Given the description of an element on the screen output the (x, y) to click on. 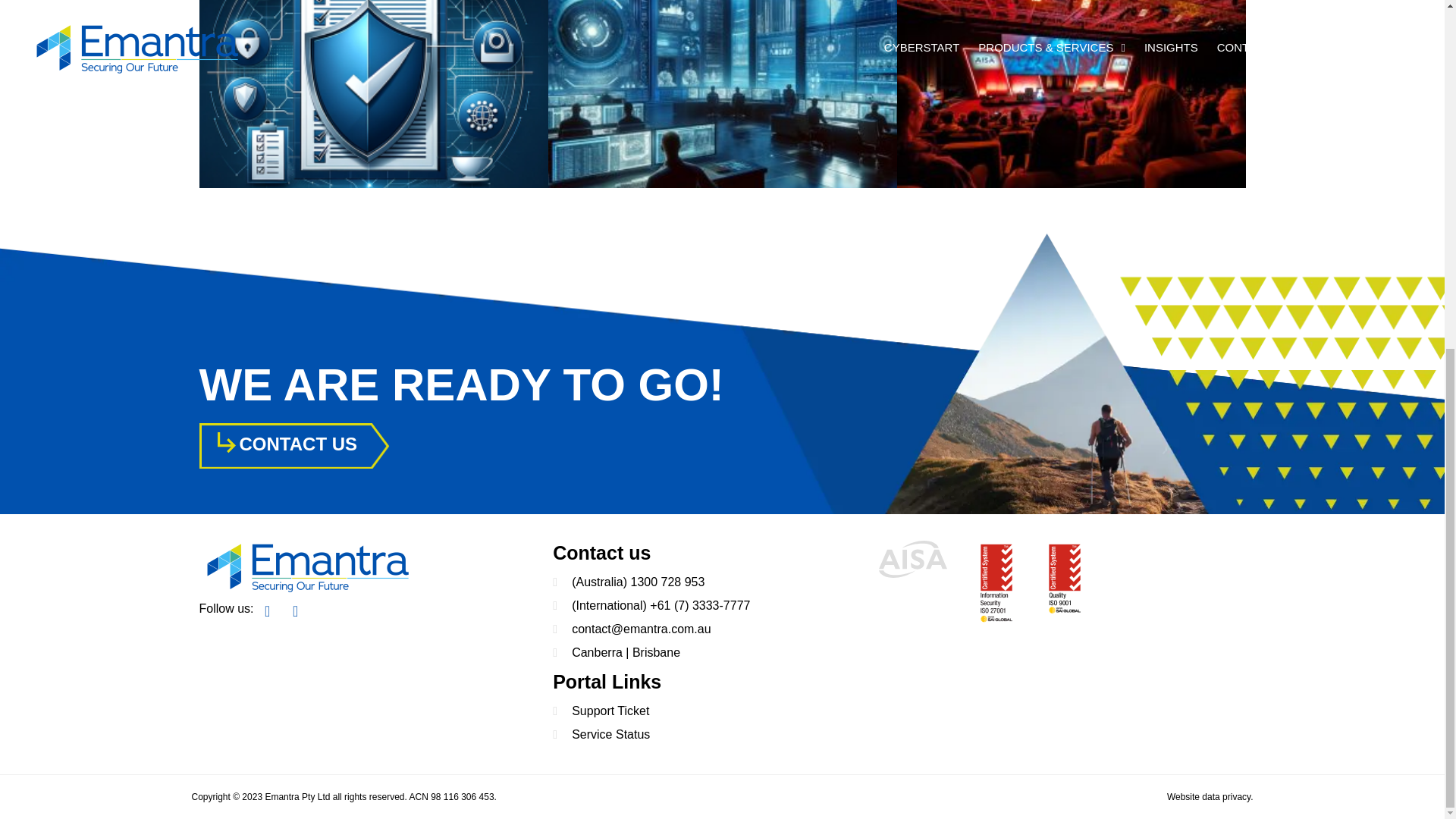
Emantra-Blue-on-Transparent-2023 (305, 566)
